Given the description of an element on the screen output the (x, y) to click on. 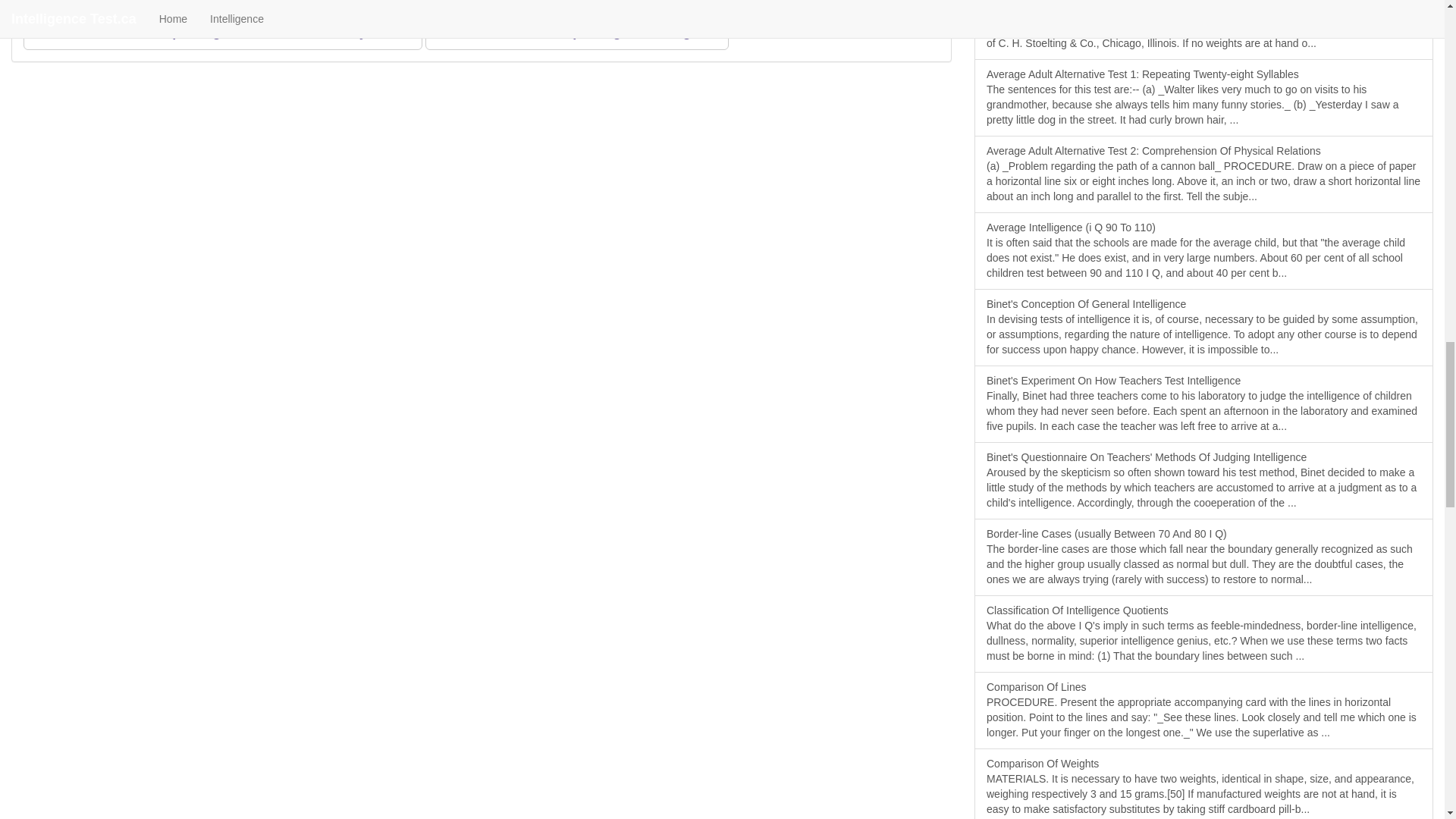
Alternative Tests: Repeating Seven Digits (577, 32)
Alternative Test: Repeating Twelve To Thirteen Syllables (222, 32)
